Given the description of an element on the screen output the (x, y) to click on. 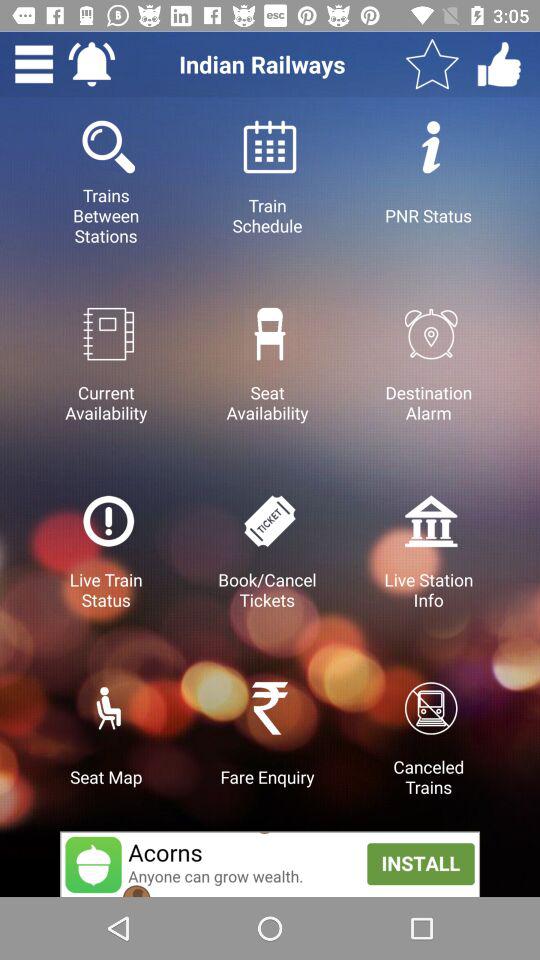
redirect to add content (270, 864)
